Given the description of an element on the screen output the (x, y) to click on. 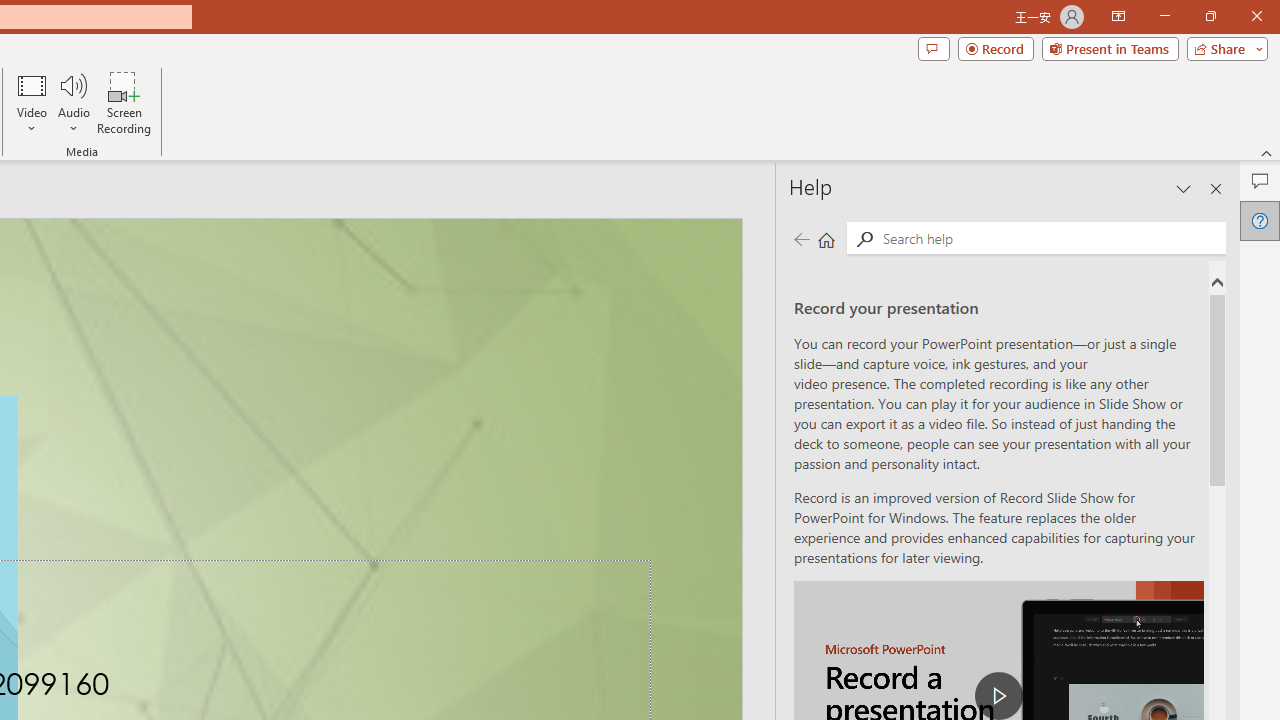
Search (1049, 237)
play Record a Presentation (998, 695)
Search (864, 238)
